Given the description of an element on the screen output the (x, y) to click on. 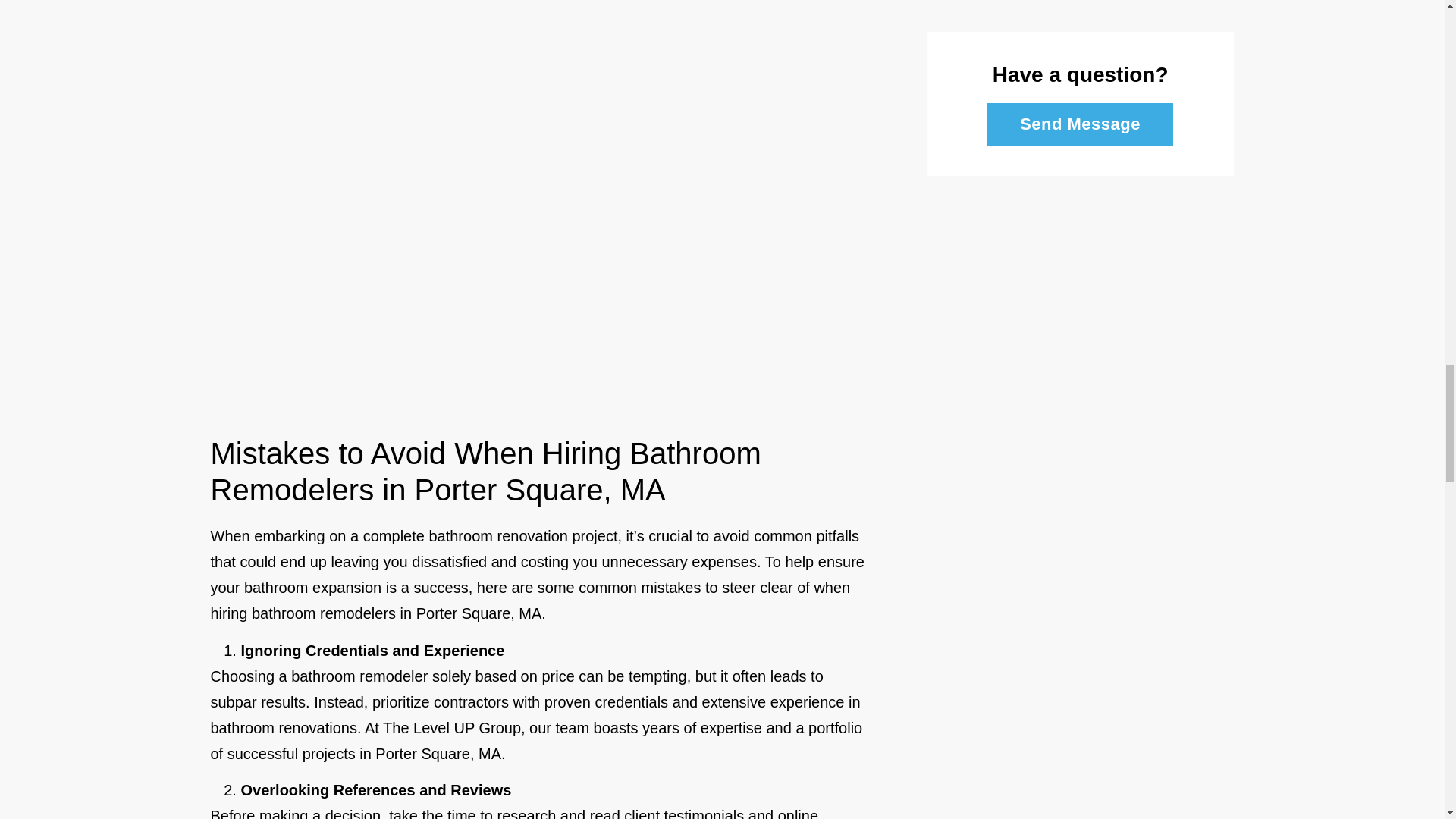
Send Message (1080, 124)
